Given the description of an element on the screen output the (x, y) to click on. 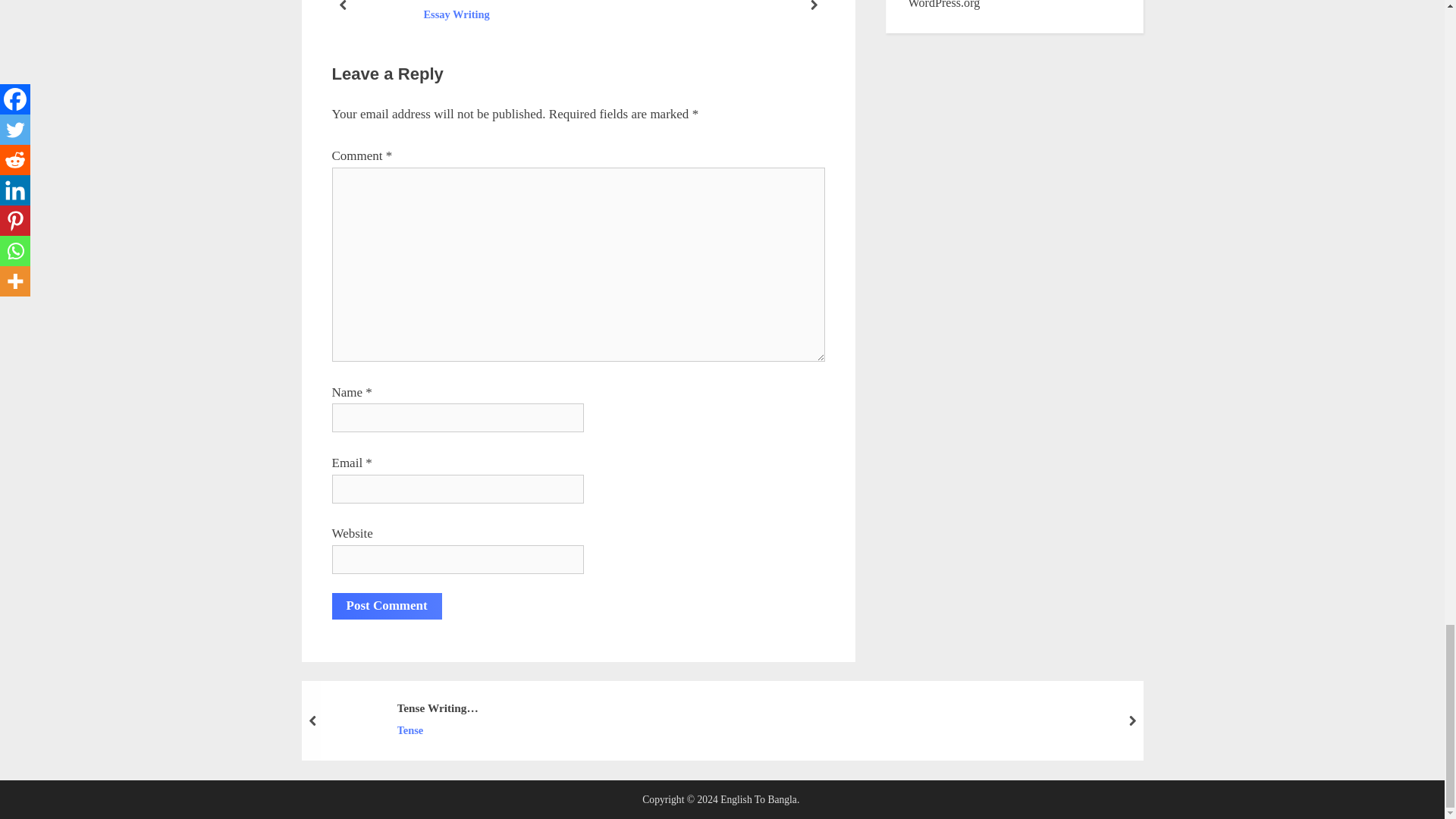
Post Comment (386, 605)
